Given the description of an element on the screen output the (x, y) to click on. 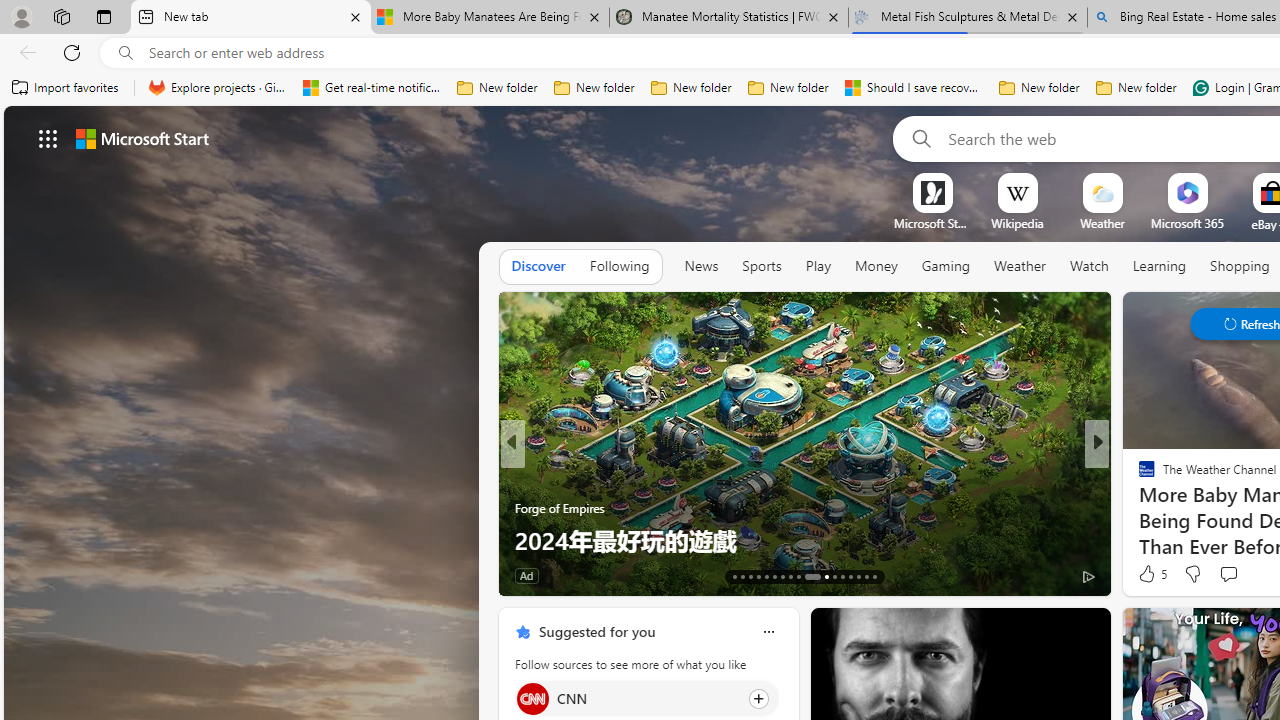
Microsoft Start Gaming (932, 223)
News (701, 265)
Shopping (1240, 265)
View comments 5 Comment (1234, 575)
146 Like (1151, 574)
Play (818, 267)
Weather (1020, 265)
Microsoft 365 (1186, 223)
AutomationID: tab-17 (765, 576)
AutomationID: tab-40 (857, 576)
App launcher (47, 138)
Start the conversation (1228, 573)
AutomationID: tab-42 (874, 576)
